Given the description of an element on the screen output the (x, y) to click on. 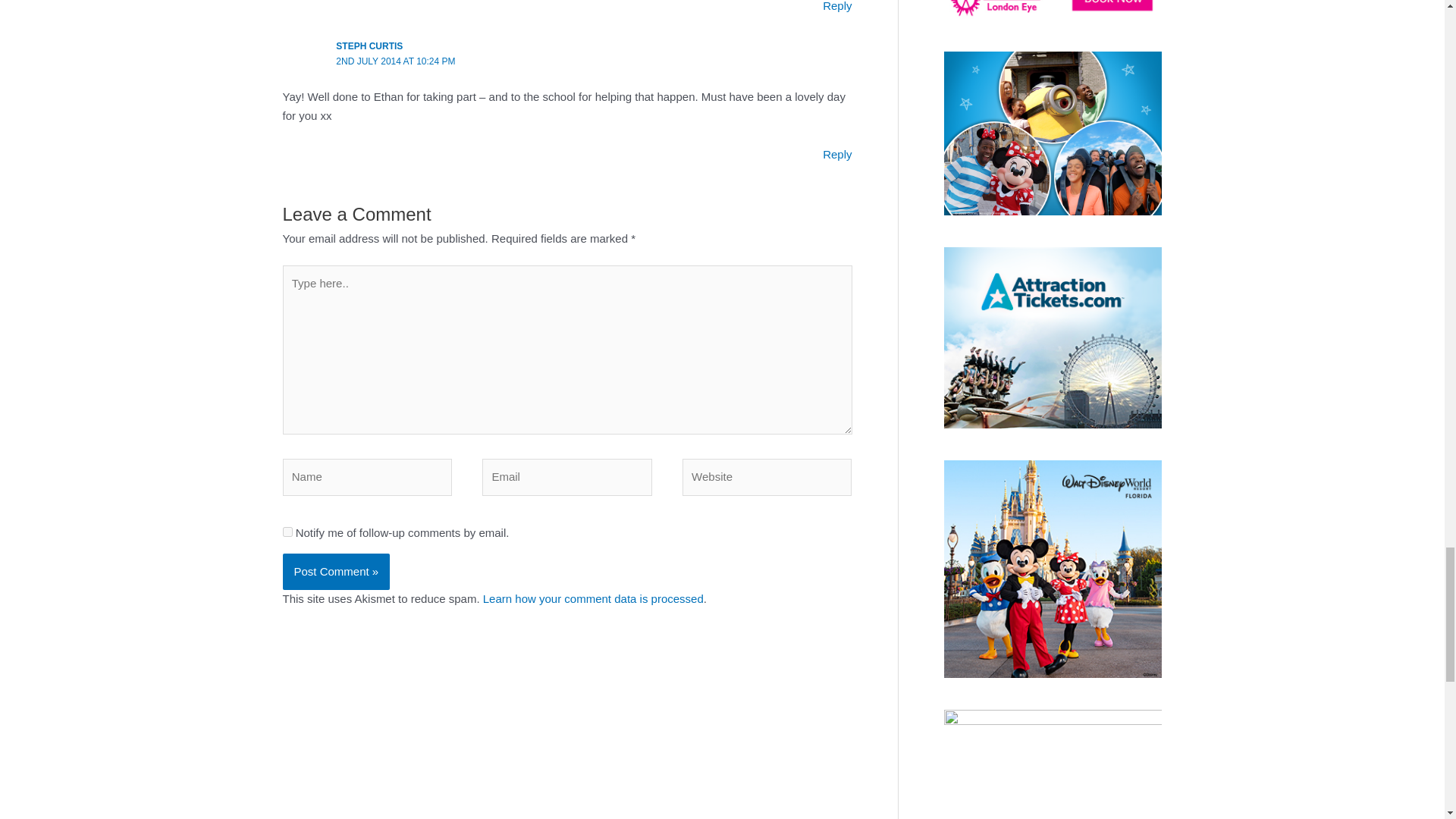
subscribe (287, 532)
